Given the description of an element on the screen output the (x, y) to click on. 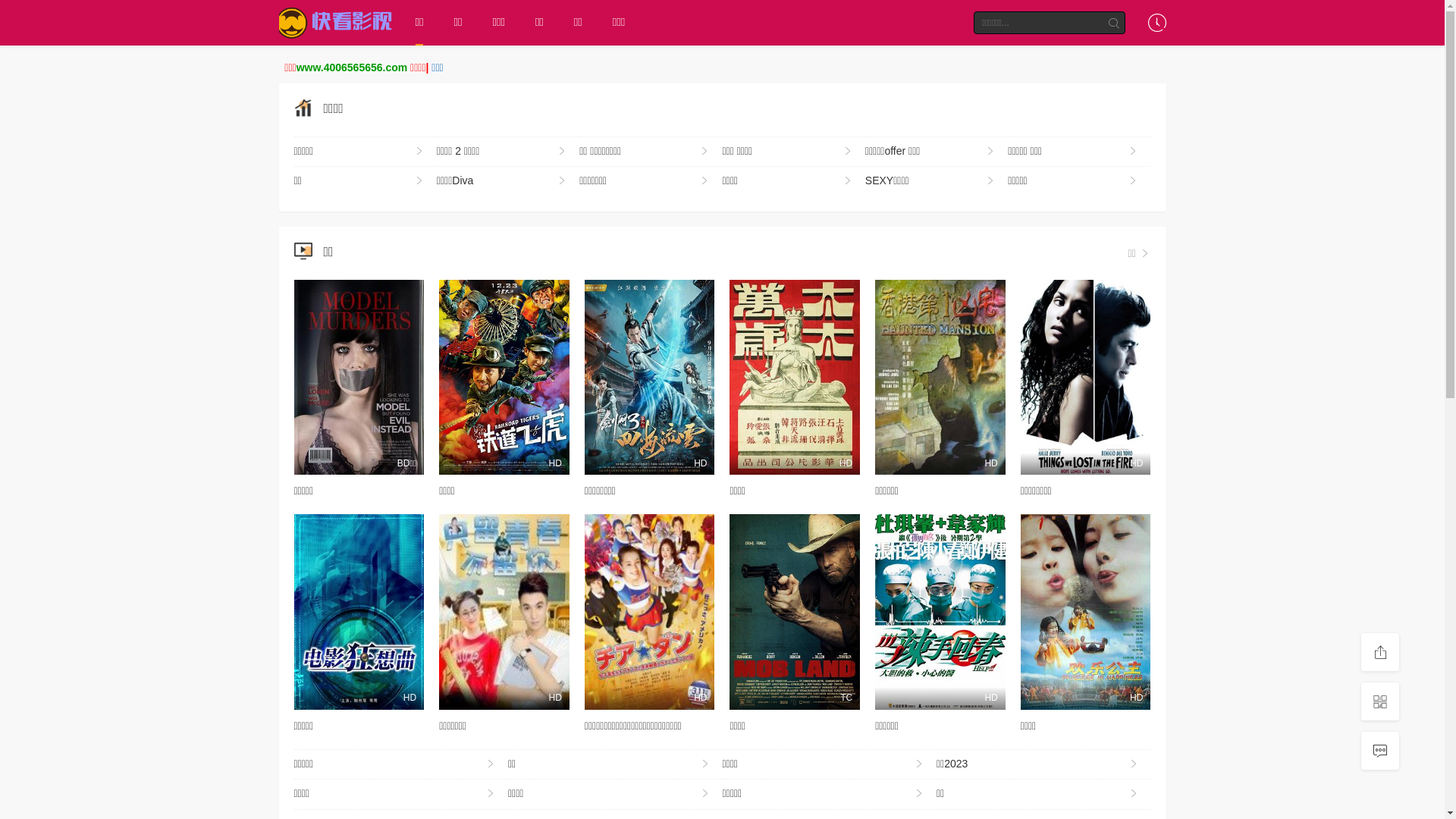
HD Element type: text (504, 376)
www.4006565656.com Element type: text (351, 67)
HD Element type: text (794, 376)
HD Element type: text (649, 611)
HD Element type: text (1085, 376)
TC Element type: text (794, 611)
HD Element type: text (940, 611)
HD Element type: text (649, 376)
HD Element type: text (504, 611)
HD Element type: text (940, 376)
HD Element type: text (359, 611)
HD Element type: text (1085, 611)
